Given the description of an element on the screen output the (x, y) to click on. 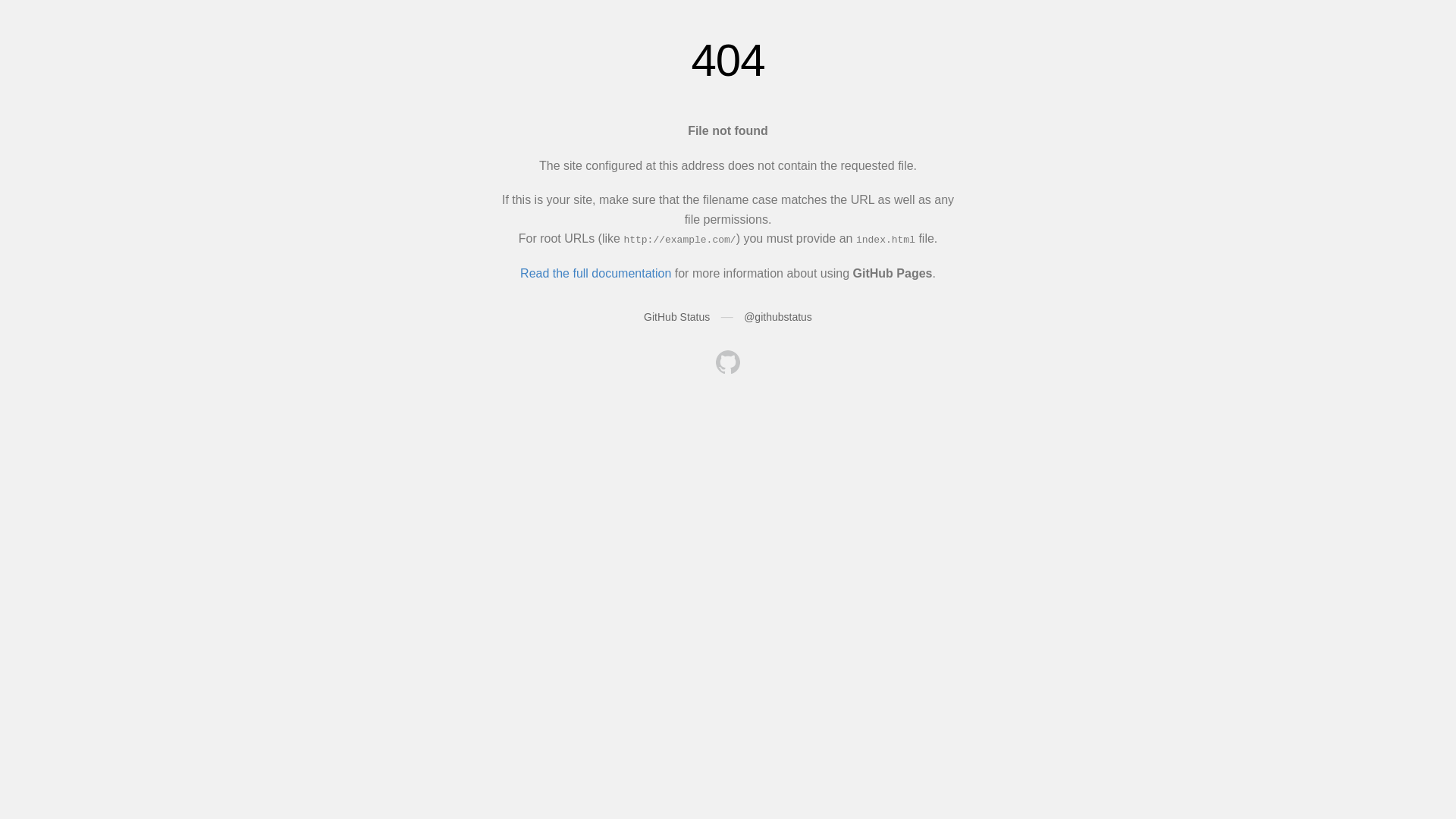
GitHub Status Element type: text (676, 316)
@githubstatus Element type: text (777, 316)
Read the full documentation Element type: text (595, 272)
